Given the description of an element on the screen output the (x, y) to click on. 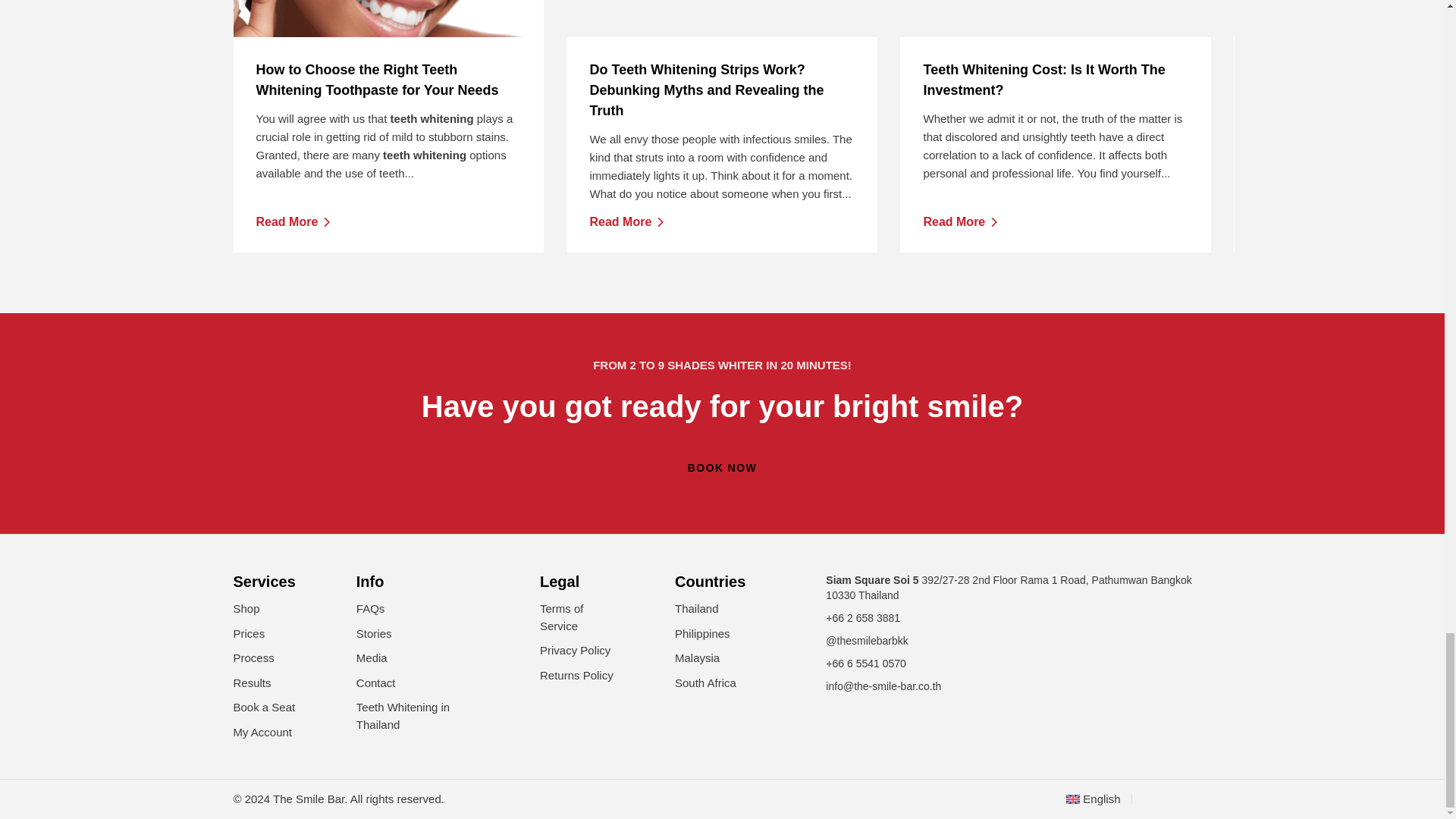
Teeth Whitening Cost: Is It Worth The Investment? (721, 18)
Read More (1055, 79)
Read More (626, 222)
English (293, 222)
Read More (388, 18)
